Given the description of an element on the screen output the (x, y) to click on. 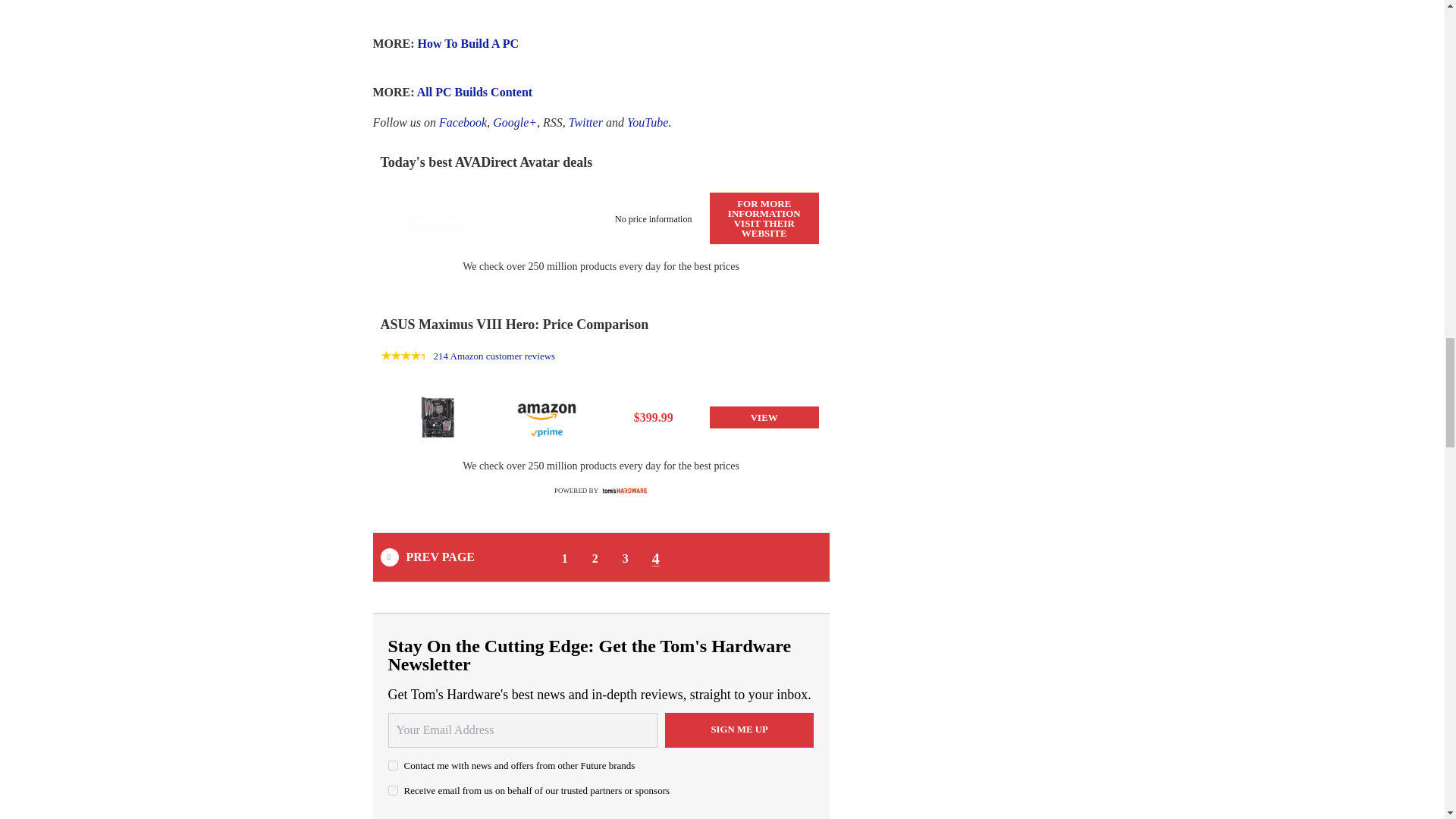
on (392, 790)
Amazon (546, 409)
Toms Hardware (624, 489)
on (392, 764)
Sign me up (739, 729)
Prime (546, 432)
AVADirect Avatar (437, 217)
Asus ROG MAXIMUS VIII HERO... (437, 417)
